Given the description of an element on the screen output the (x, y) to click on. 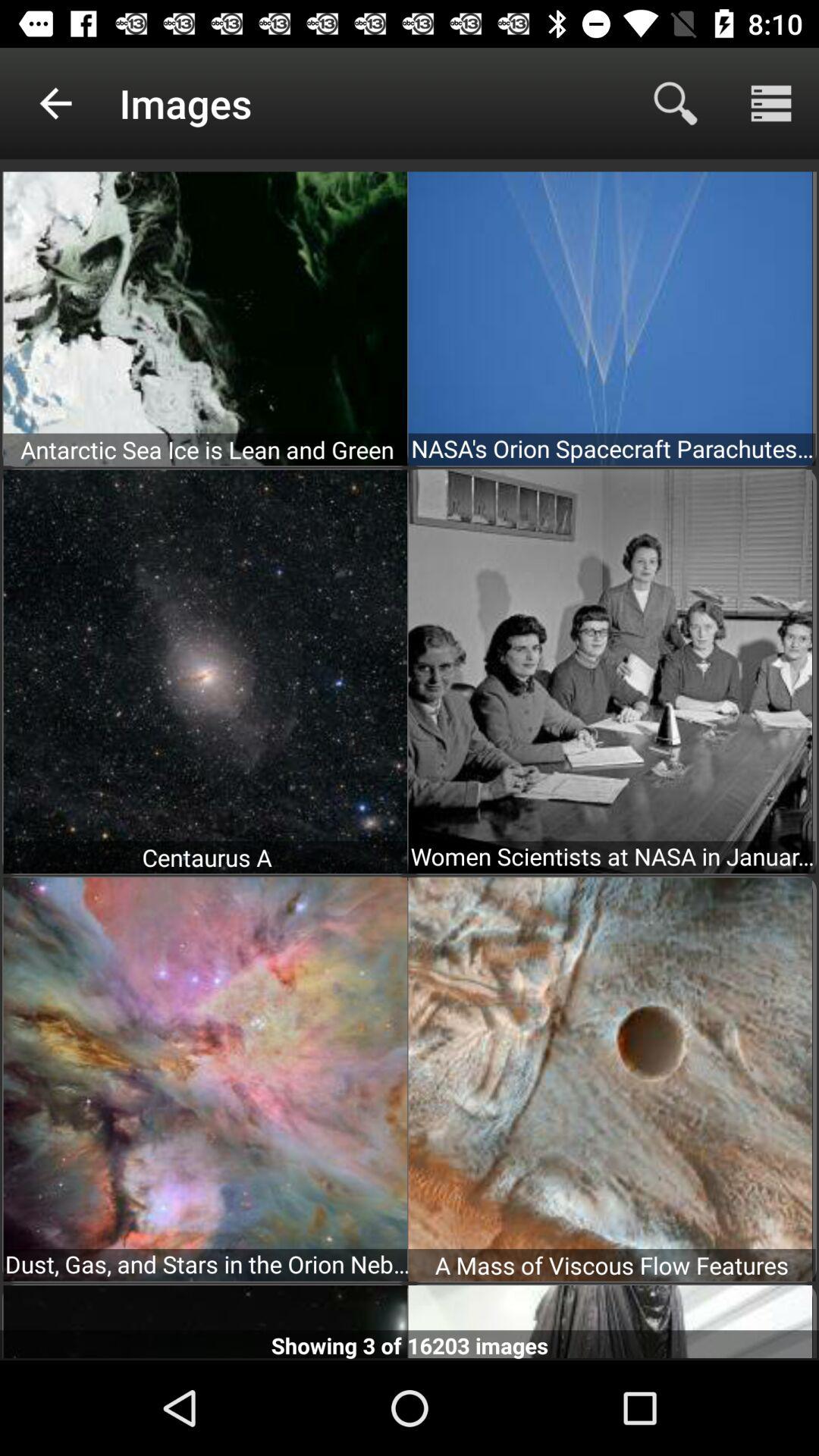
select the app next to the images item (675, 103)
